Given the description of an element on the screen output the (x, y) to click on. 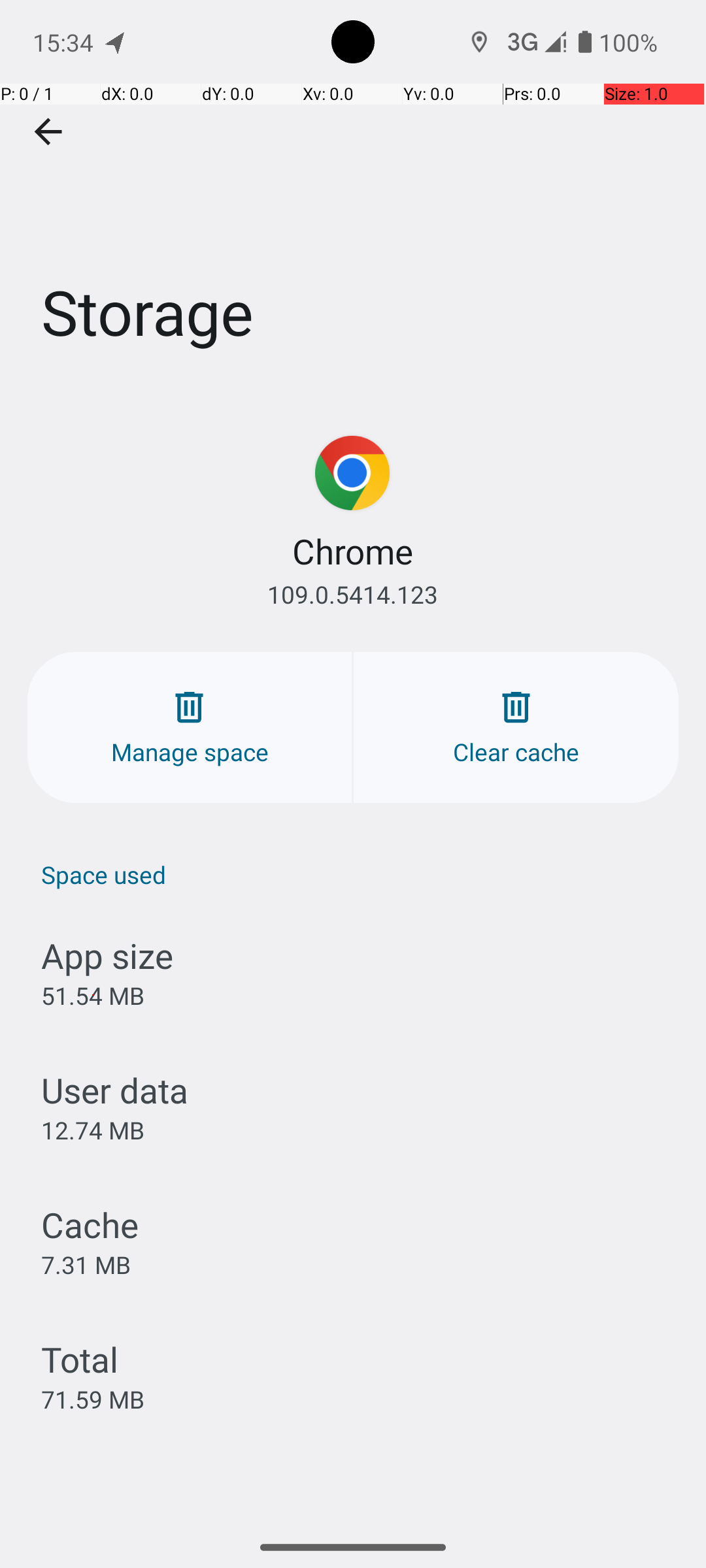
109.0.5414.123 Element type: android.widget.TextView (352, 593)
Manage space Element type: android.widget.Button (189, 727)
Clear cache Element type: android.widget.Button (515, 727)
Space used Element type: android.widget.TextView (359, 874)
App size Element type: android.widget.TextView (107, 955)
51.54 MB Element type: android.widget.TextView (92, 995)
User data Element type: android.widget.TextView (114, 1089)
12.74 MB Element type: android.widget.TextView (92, 1129)
Cache Element type: android.widget.TextView (89, 1224)
7.31 MB Element type: android.widget.TextView (85, 1264)
Total Element type: android.widget.TextView (79, 1359)
71.59 MB Element type: android.widget.TextView (92, 1398)
